Given the description of an element on the screen output the (x, y) to click on. 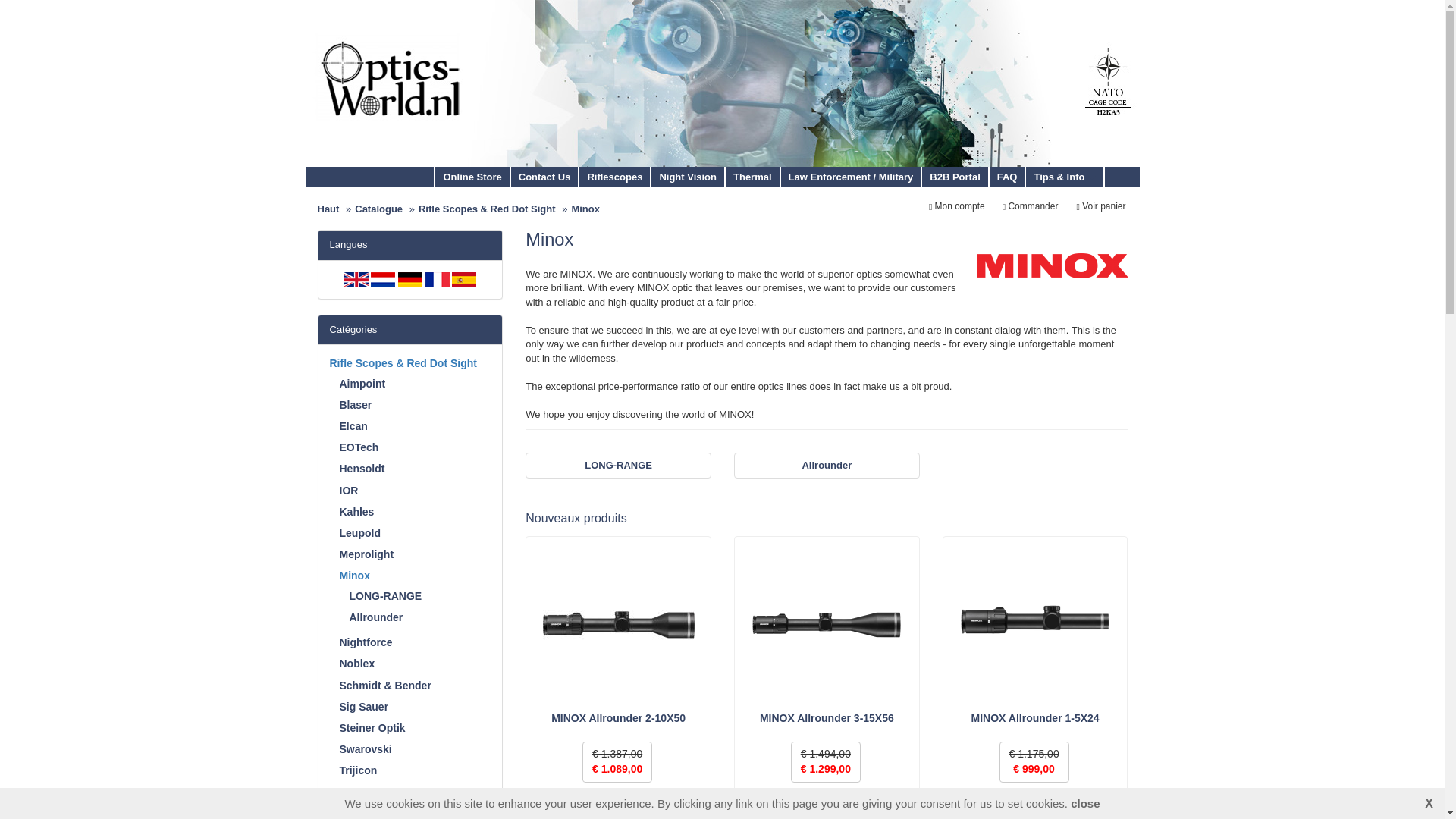
Commander (1029, 206)
Acheter maintenant (618, 805)
Acheter maintenant (826, 805)
Allrounder (826, 465)
B2B Portal (954, 177)
Acheter maintenant (1035, 805)
Nederlands (382, 279)
MINOX Allrounder 1-5X24 (1035, 717)
Catalogue (379, 208)
Mon compte (957, 206)
